Given the description of an element on the screen output the (x, y) to click on. 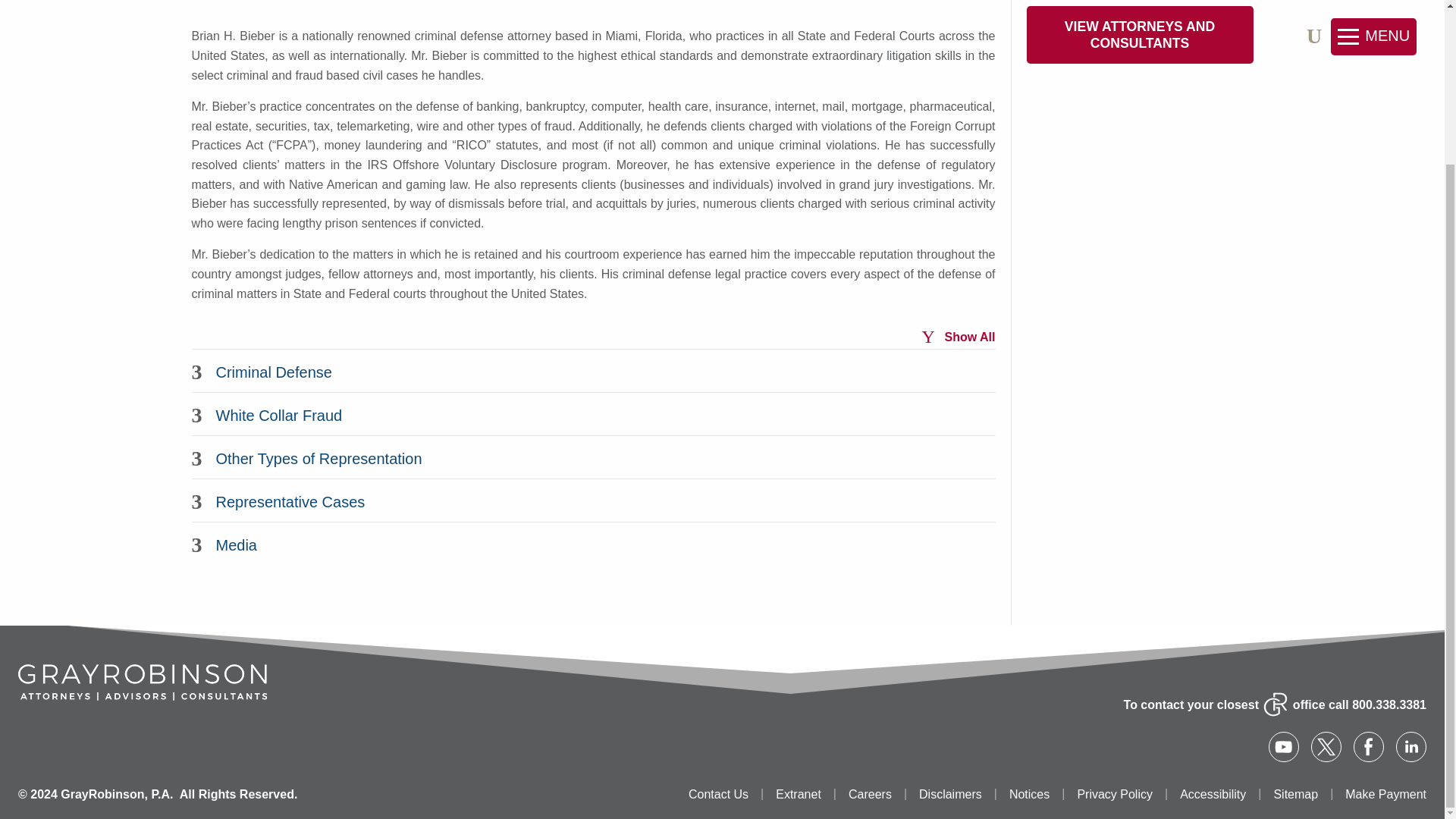
Show All (957, 336)
Representative Cases (592, 499)
Criminal Defense (592, 370)
Media (592, 543)
White Collar Fraud (592, 413)
Other Types of Representation (592, 456)
